Given the description of an element on the screen output the (x, y) to click on. 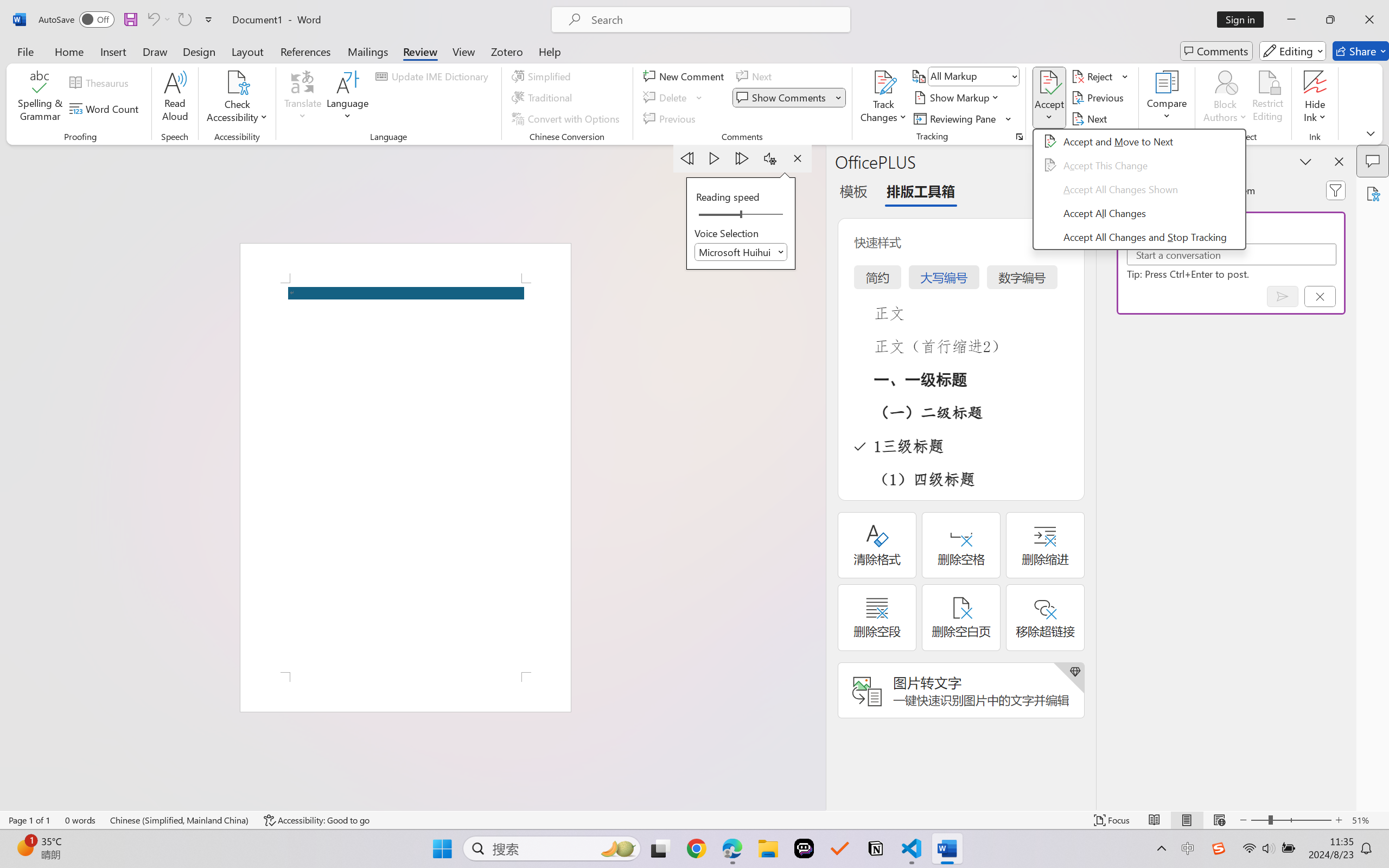
Track Changes (883, 97)
Language Chinese (Simplified, Mainland China) (179, 819)
Display for Review (973, 75)
Stop (797, 158)
Word Count (105, 108)
Delete (673, 97)
